Given the description of an element on the screen output the (x, y) to click on. 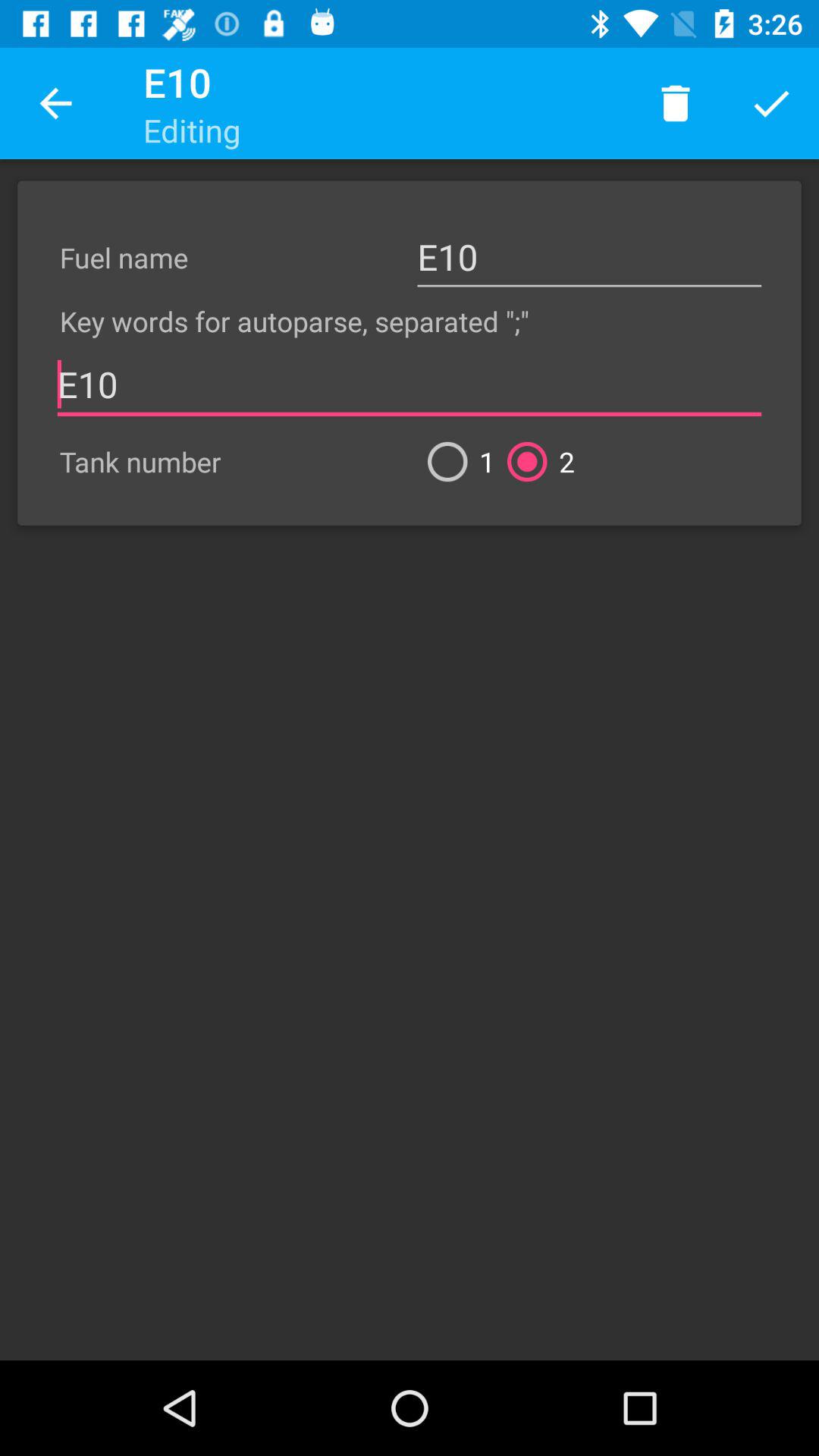
launch icon next to the 2 item (455, 461)
